Given the description of an element on the screen output the (x, y) to click on. 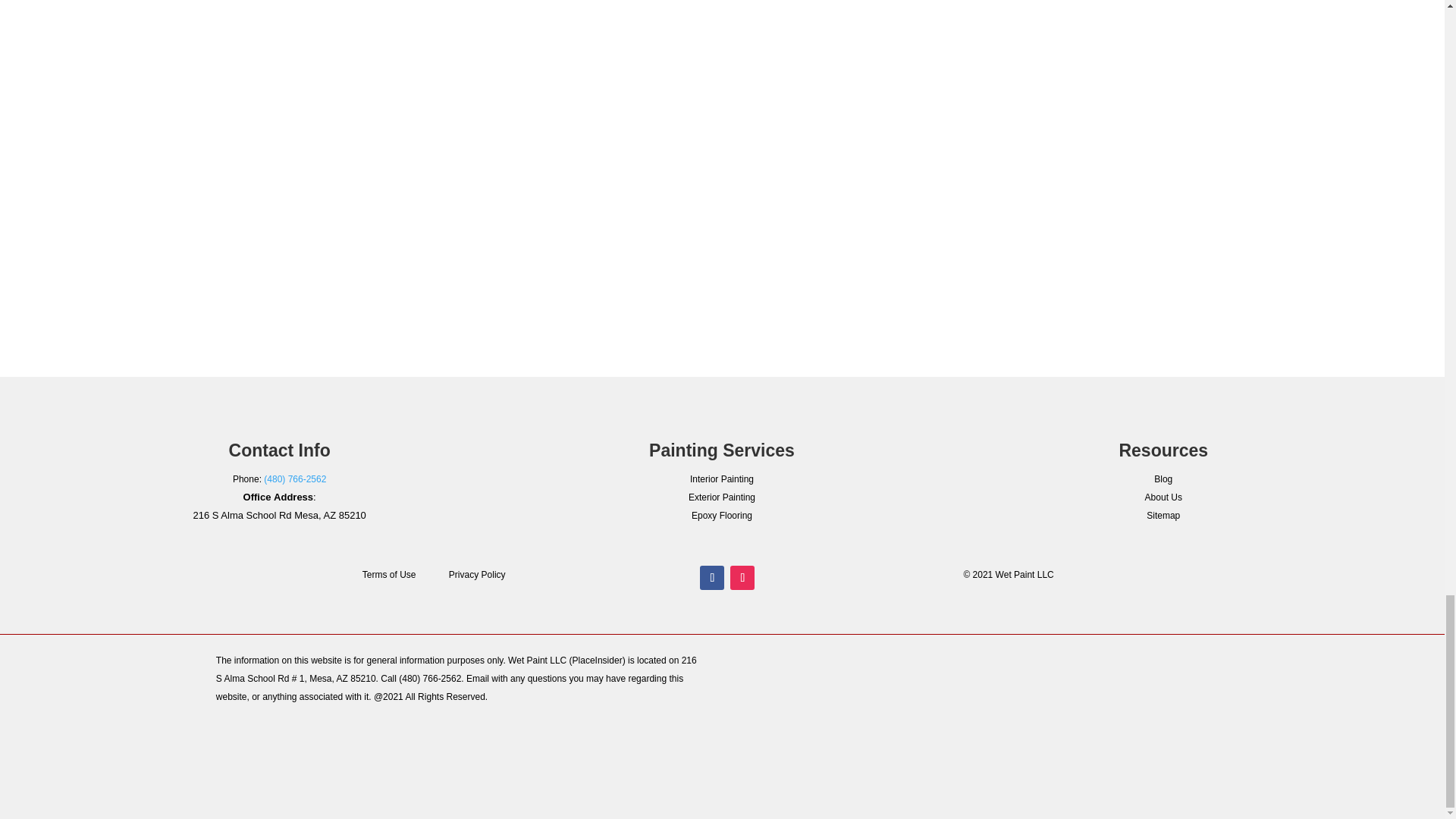
Epoxy Flooring (721, 515)
Privacy Policy (476, 574)
Follow on Facebook (711, 577)
Blog (1163, 479)
About Us (1163, 497)
Follow on Instagram (742, 577)
PlaceInsider (597, 660)
Interior Painting (722, 479)
Sitemap (1163, 515)
Group 266 (1240, 696)
